Given the description of an element on the screen output the (x, y) to click on. 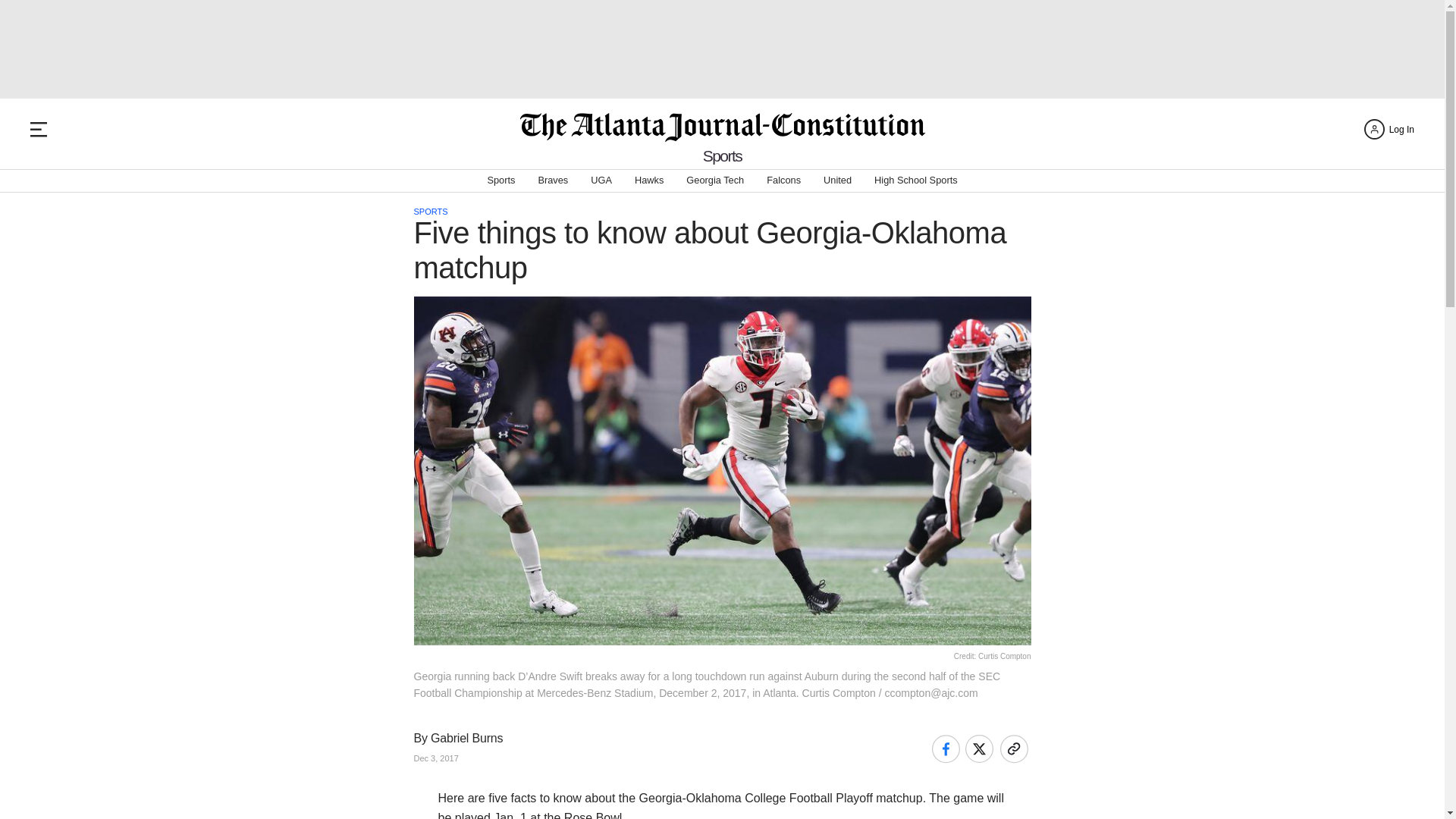
Falcons (783, 180)
Braves (552, 180)
Sports (500, 180)
UGA (601, 180)
Georgia Tech (714, 180)
Hawks (648, 180)
Sports (722, 155)
United (837, 180)
High School Sports (916, 180)
